Given the description of an element on the screen output the (x, y) to click on. 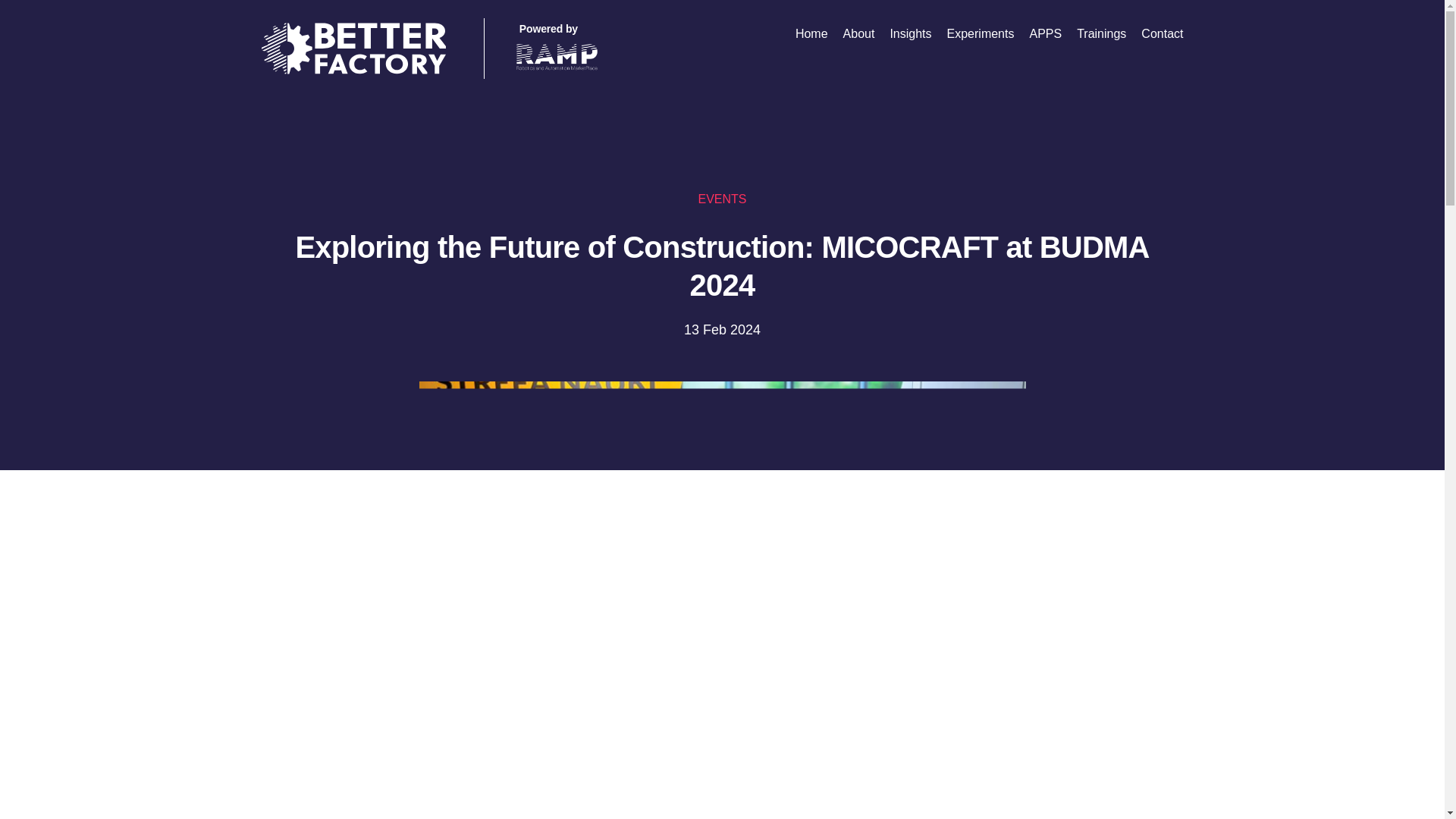
EVENTS (721, 198)
About (859, 33)
Home (811, 33)
APPS (1045, 33)
Contact (1161, 33)
Experiments (980, 33)
Powered by (556, 48)
Trainings (1101, 33)
Insights (910, 33)
